Given the description of an element on the screen output the (x, y) to click on. 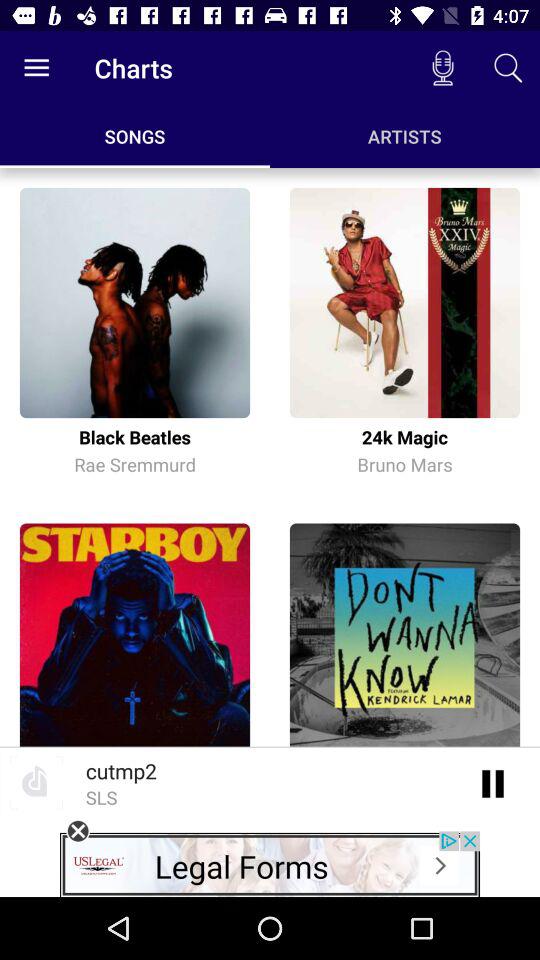
close advertisement (78, 831)
